Given the description of an element on the screen output the (x, y) to click on. 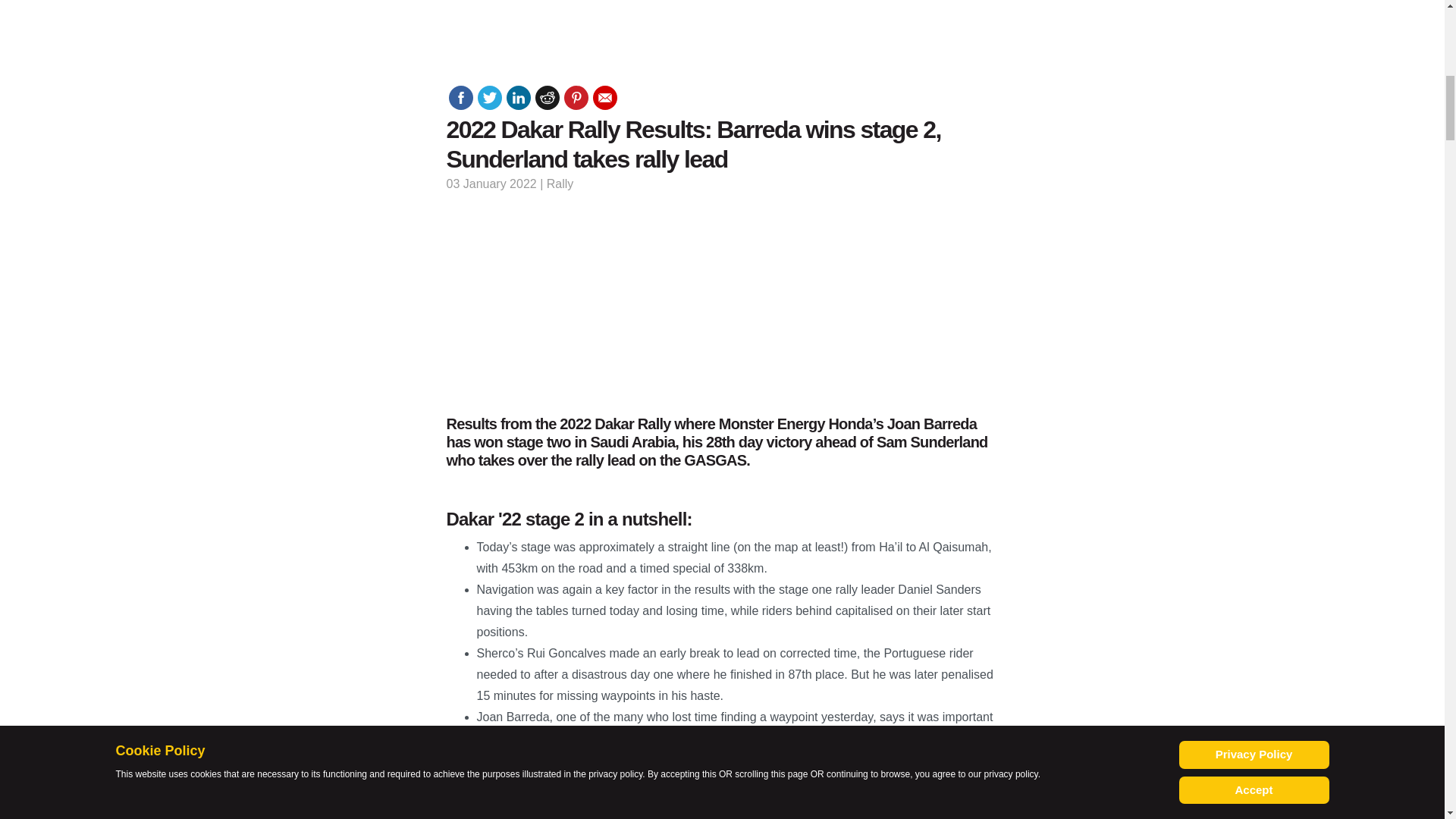
Share on Facebook (460, 97)
3rd party ad content (721, 301)
Share on Twitter (489, 97)
3rd party ad content (164, 65)
Share on Reddit (547, 97)
3rd party ad content (1279, 65)
Share on LinkedIn (518, 97)
Recommend this page (604, 97)
